Given the description of an element on the screen output the (x, y) to click on. 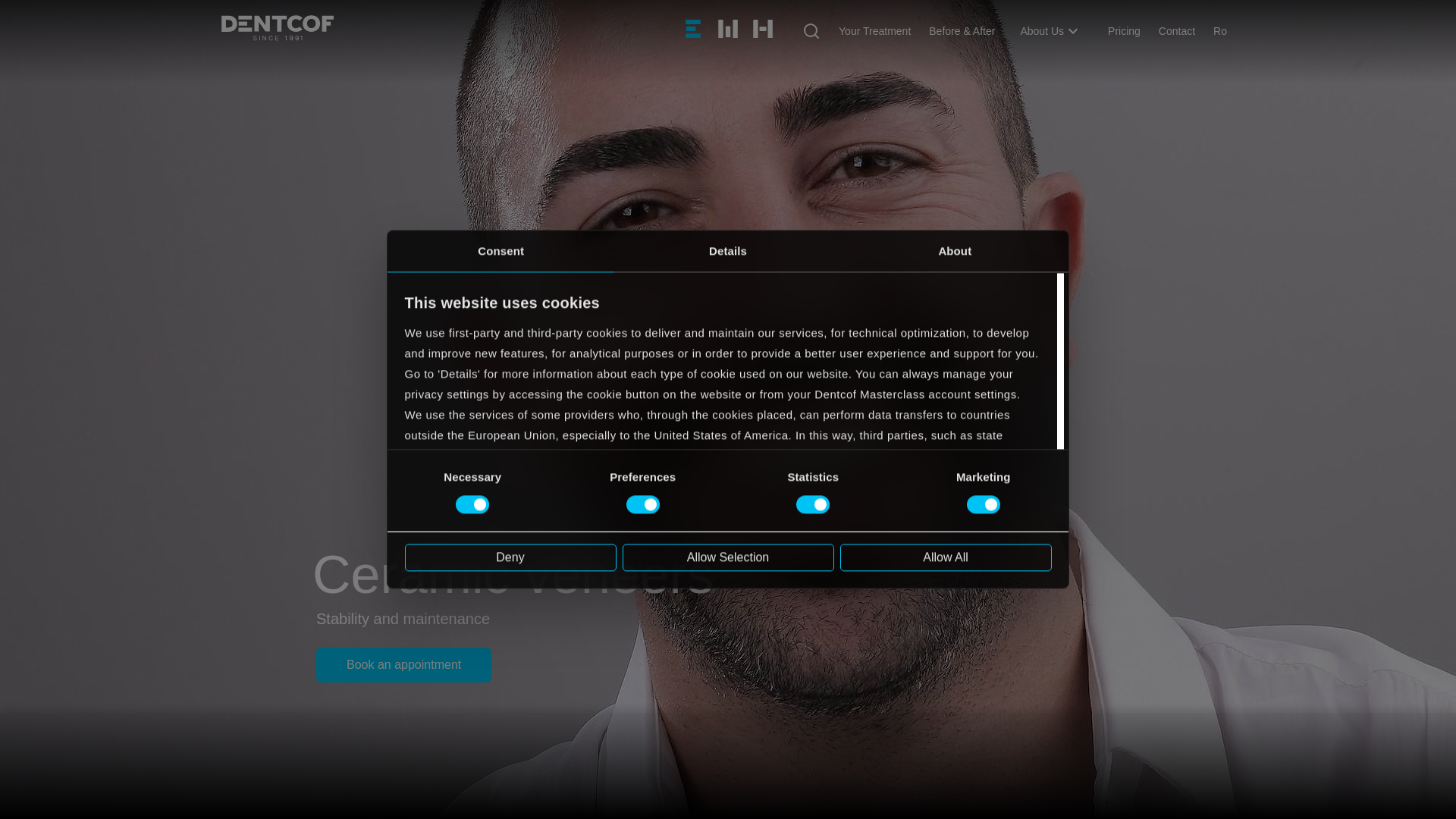
Deny (509, 556)
Details (727, 250)
Consent (500, 250)
Allow Selection (726, 556)
Cookie Policy (441, 536)
About (954, 250)
Allow All (945, 556)
